Given the description of an element on the screen output the (x, y) to click on. 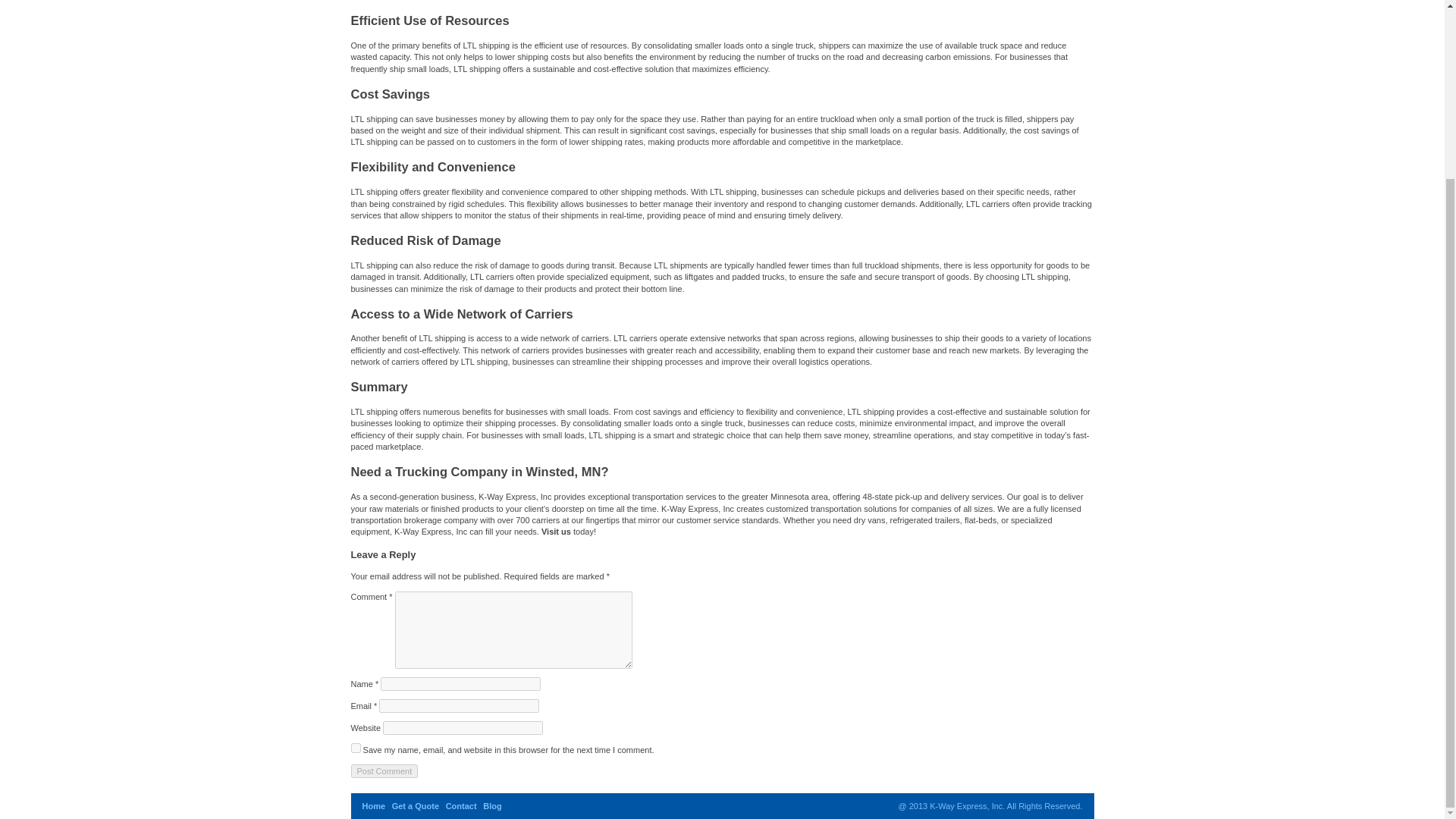
Blog (491, 805)
Post Comment (383, 771)
Contact (461, 805)
Visit us (555, 531)
yes (354, 747)
Post Comment (383, 771)
Home (373, 805)
Get a Quote (415, 805)
